Given the description of an element on the screen output the (x, y) to click on. 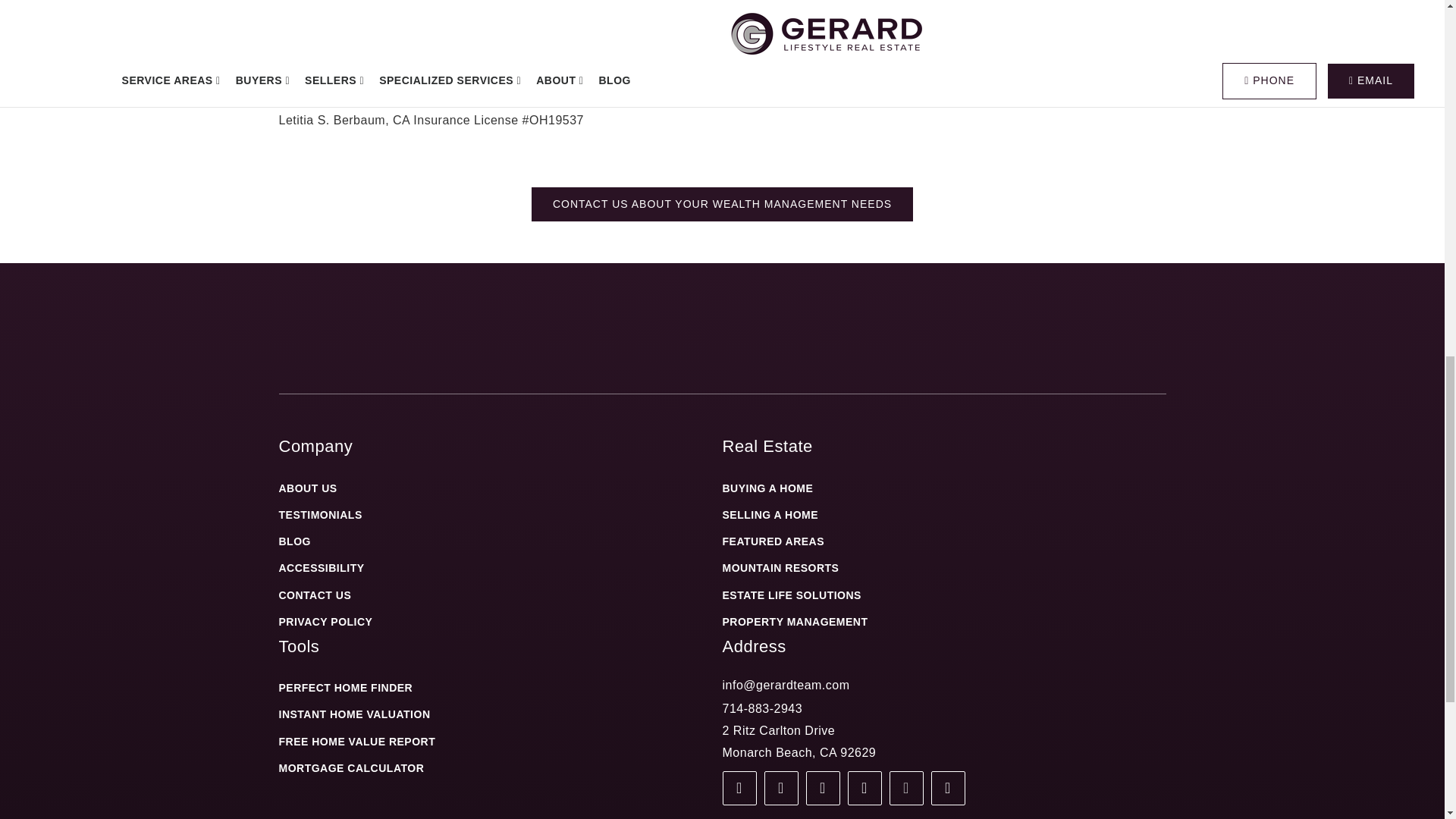
Instagram Profile (822, 788)
Pinterest Profile (948, 788)
Phone (762, 707)
Linkedin Profile (905, 788)
Twitter Profile (864, 788)
YouTube Channel (780, 788)
Email (785, 684)
Facebook Page (738, 788)
